Given the description of an element on the screen output the (x, y) to click on. 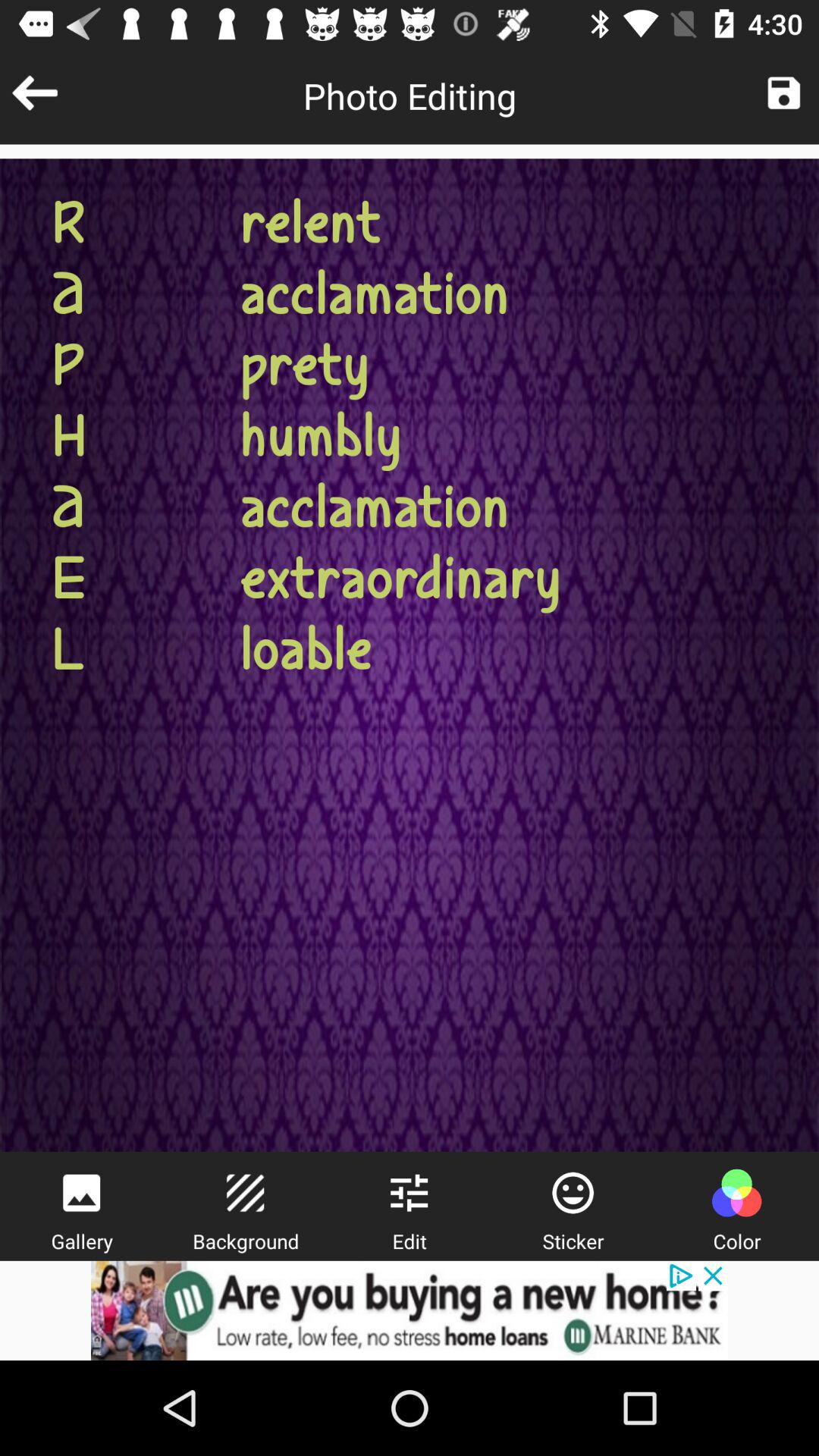
background (245, 1192)
